Given the description of an element on the screen output the (x, y) to click on. 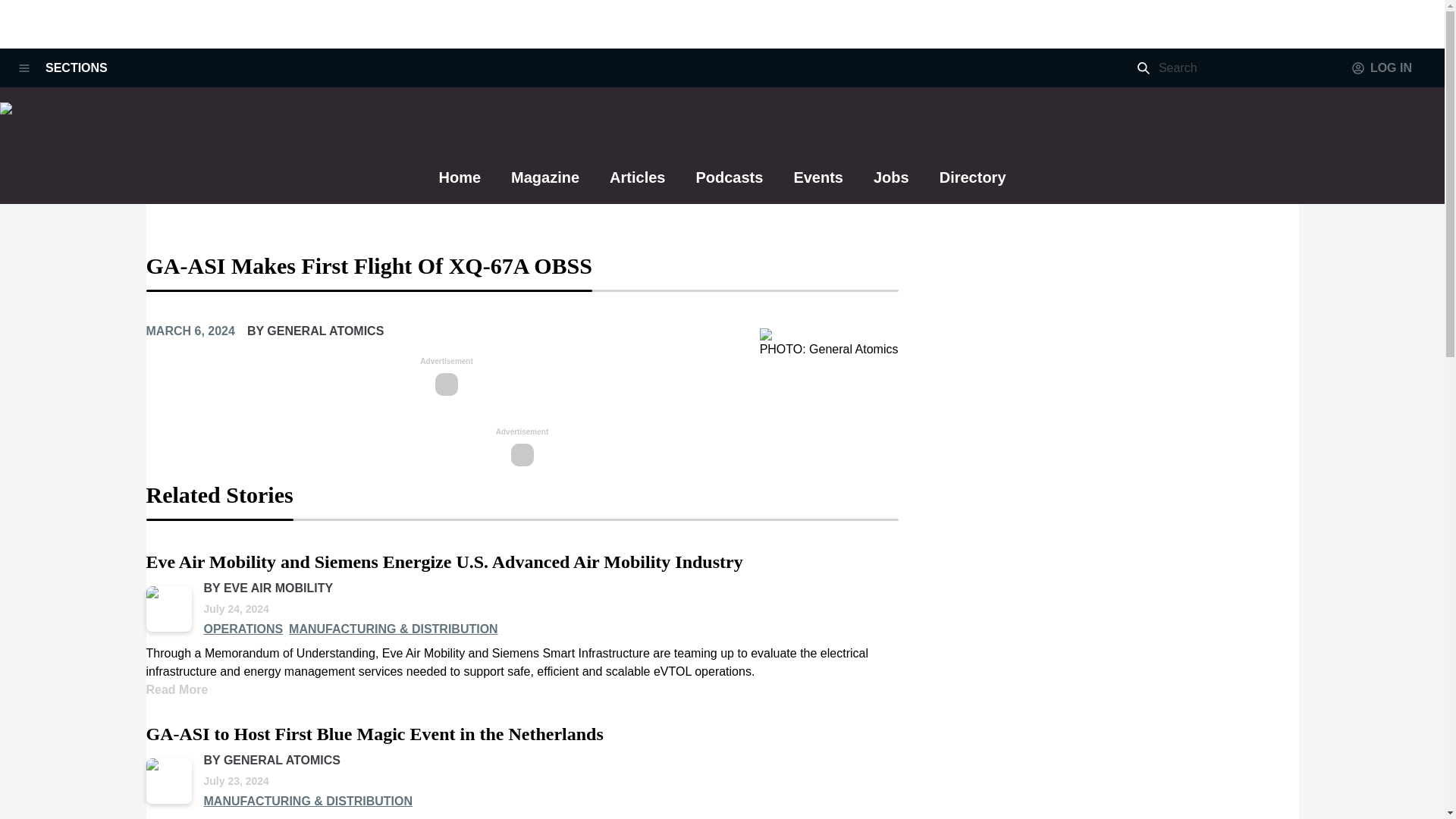
Events (818, 184)
Podcasts (728, 184)
Jobs (890, 184)
BY EVE AIR MOBILITY (268, 587)
GA-ASI to Host First Blue Magic Event in the Netherlands (373, 734)
OPERATIONS (242, 628)
BY GENERAL ATOMICS (271, 759)
Magazine (545, 184)
Home (459, 184)
Directory (972, 184)
LOG IN (1381, 67)
Articles (637, 184)
Read More (176, 689)
